Given the description of an element on the screen output the (x, y) to click on. 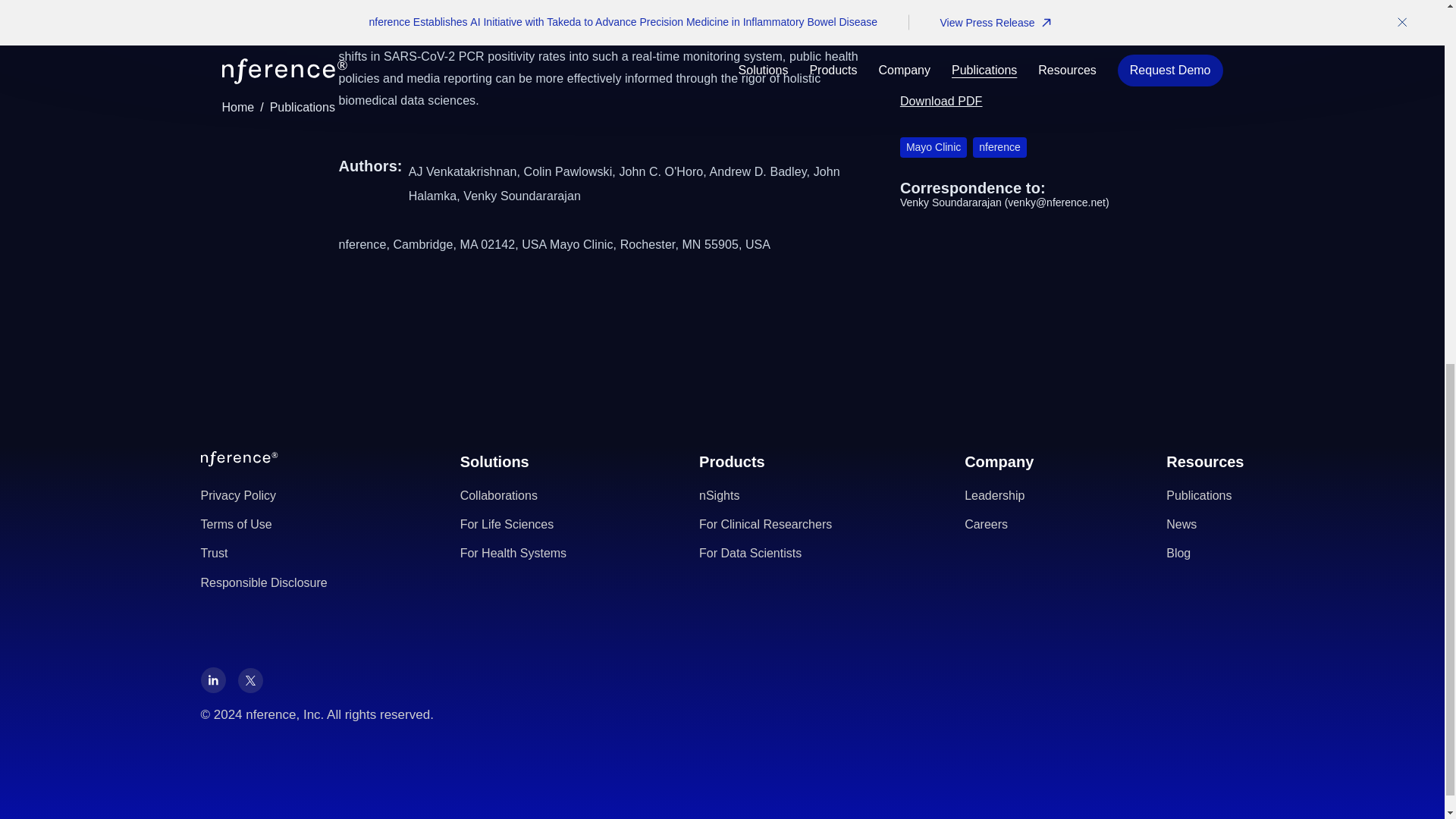
Blog (1204, 553)
Careers (998, 524)
Responsible Disclosure (263, 582)
Leadership (998, 495)
Terms of Use (263, 524)
Privacy Policy (263, 495)
nSights (764, 495)
For Data Scientists (764, 553)
For Clinical Researchers (764, 524)
Publications (1204, 495)
